Given the description of an element on the screen output the (x, y) to click on. 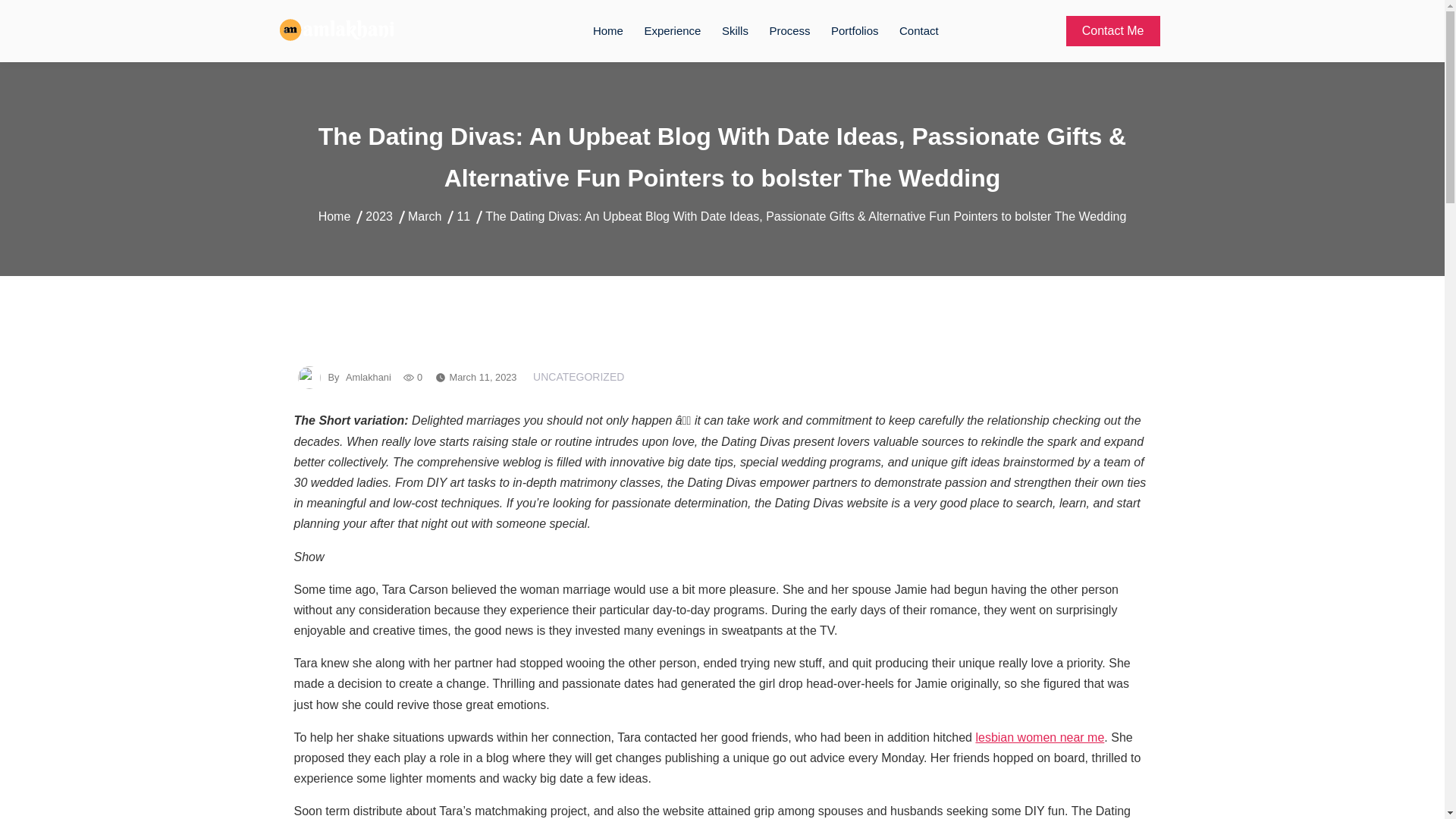
Portfolios (855, 31)
lesbian women near me (1039, 737)
Experience (672, 31)
Home (334, 215)
UNCATEGORIZED (576, 377)
2023 (379, 215)
Abdul Moiz Lakhani (378, 57)
Contact Me (1112, 30)
Amlakhani (366, 377)
11 (463, 215)
